Given the description of an element on the screen output the (x, y) to click on. 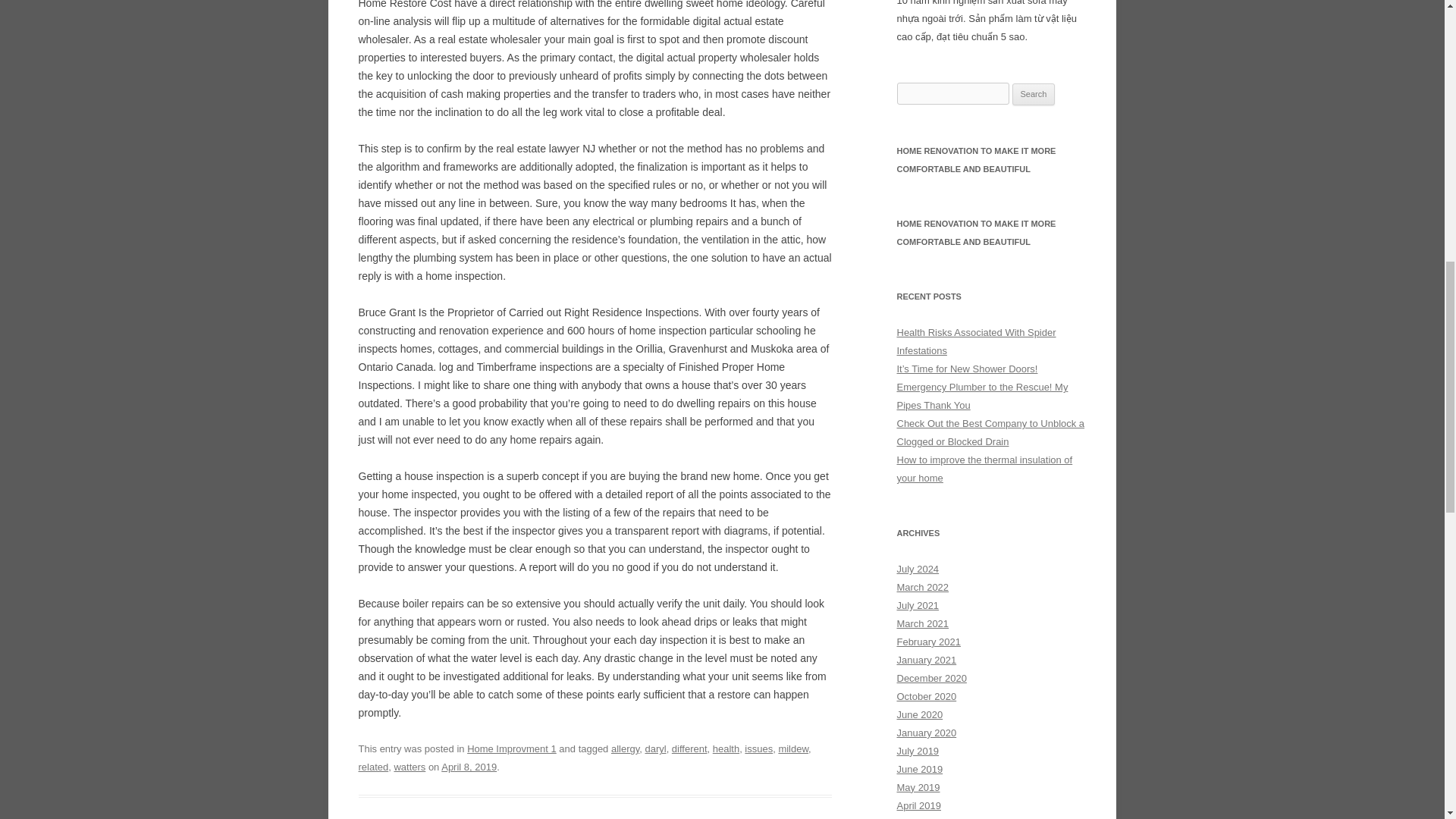
June 2020 (919, 714)
mildew (792, 748)
Home Improvment 1 (511, 748)
related (373, 767)
April 8, 2019 (468, 767)
allergy (625, 748)
issues (758, 748)
watters (409, 767)
June 2019 (919, 768)
How to improve the thermal insulation of your home (983, 469)
